Given the description of an element on the screen output the (x, y) to click on. 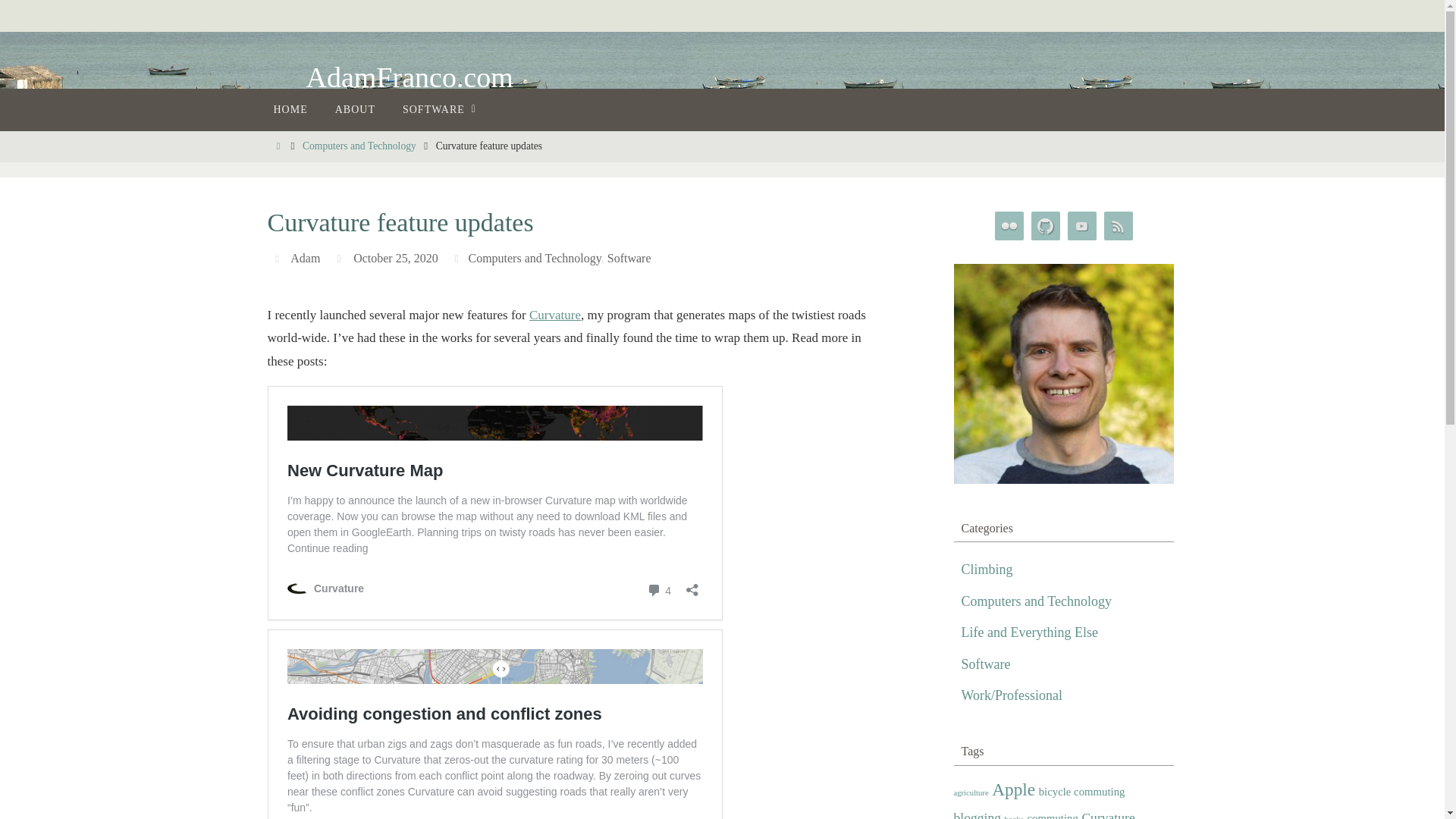
View all posts by Adam (304, 258)
AdamFranco.com (409, 77)
Computers and Technology (533, 258)
October 25, 2020 (395, 258)
bicycle commuting (1082, 791)
Computers and Technology (1036, 601)
SOFTWARE (435, 109)
Adam (304, 258)
Computers and Technology (359, 145)
Home (277, 145)
commuting (1051, 815)
Climbing (986, 569)
Software (985, 664)
Apple (1013, 789)
Curvature (554, 314)
